Given the description of an element on the screen output the (x, y) to click on. 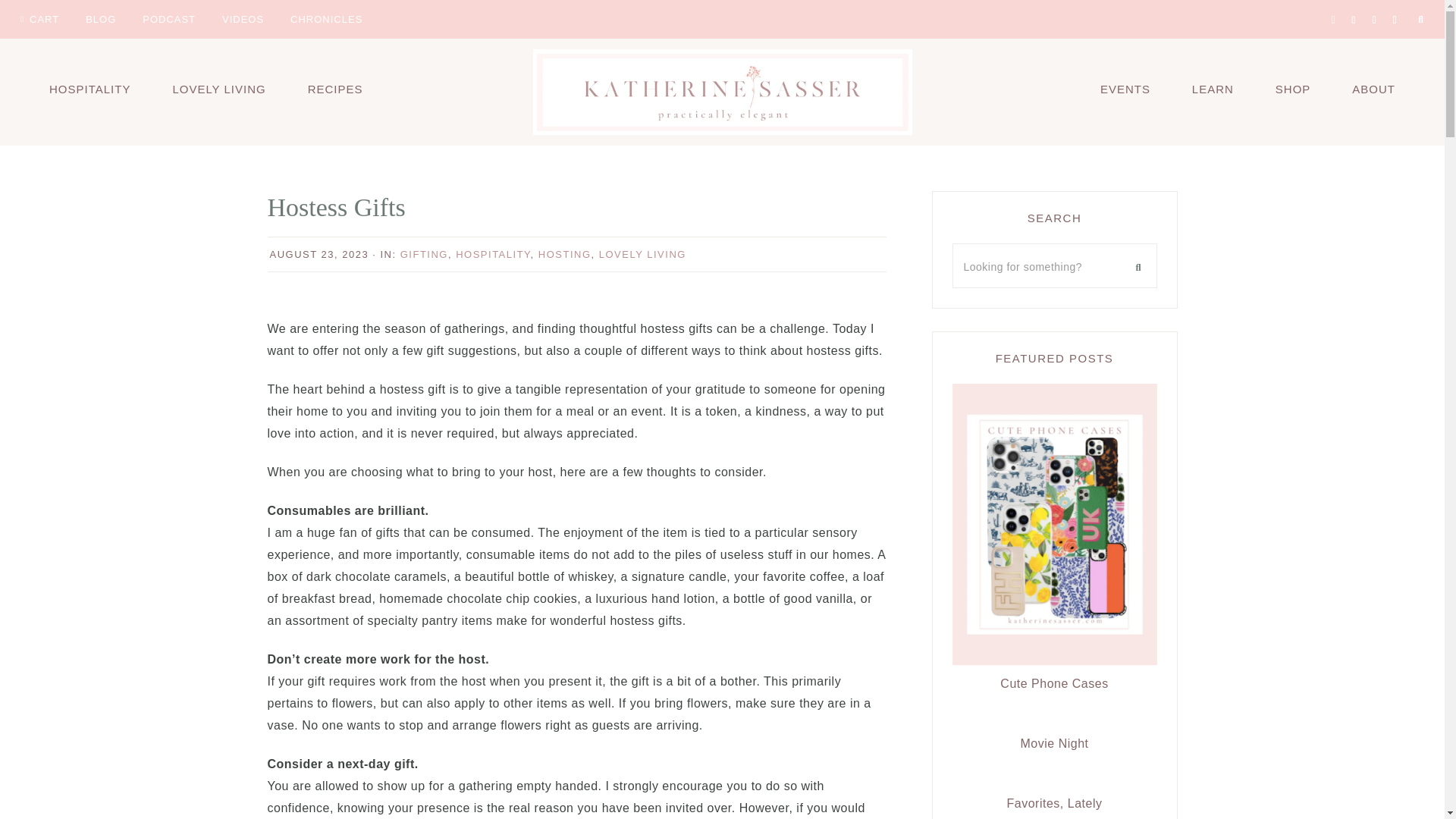
CHRONICLES (326, 18)
BLOG (101, 18)
VIDEOS (243, 18)
PODCAST (168, 18)
CART (38, 18)
